Given the description of an element on the screen output the (x, y) to click on. 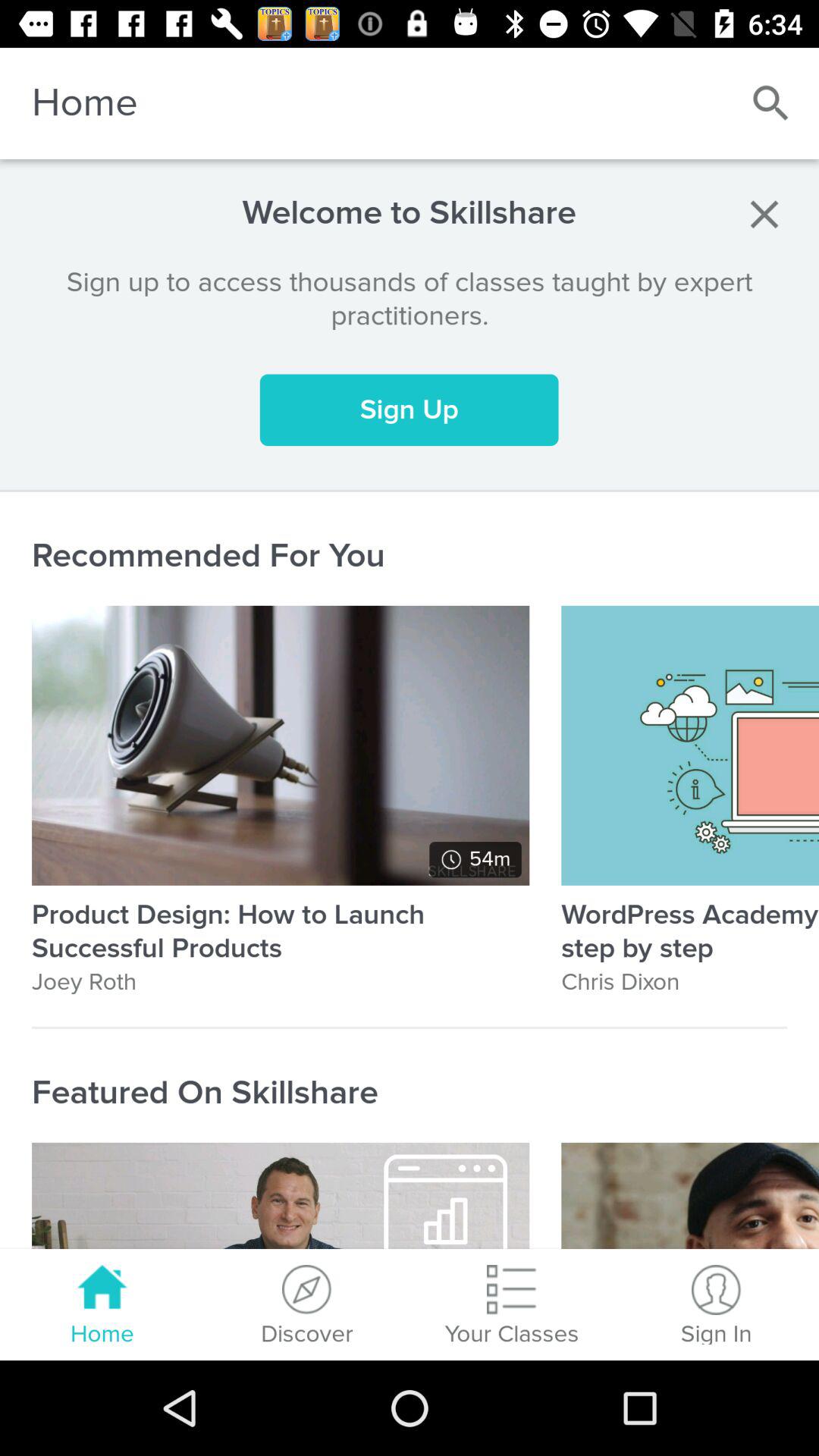
select item next to home (771, 103)
